Given the description of an element on the screen output the (x, y) to click on. 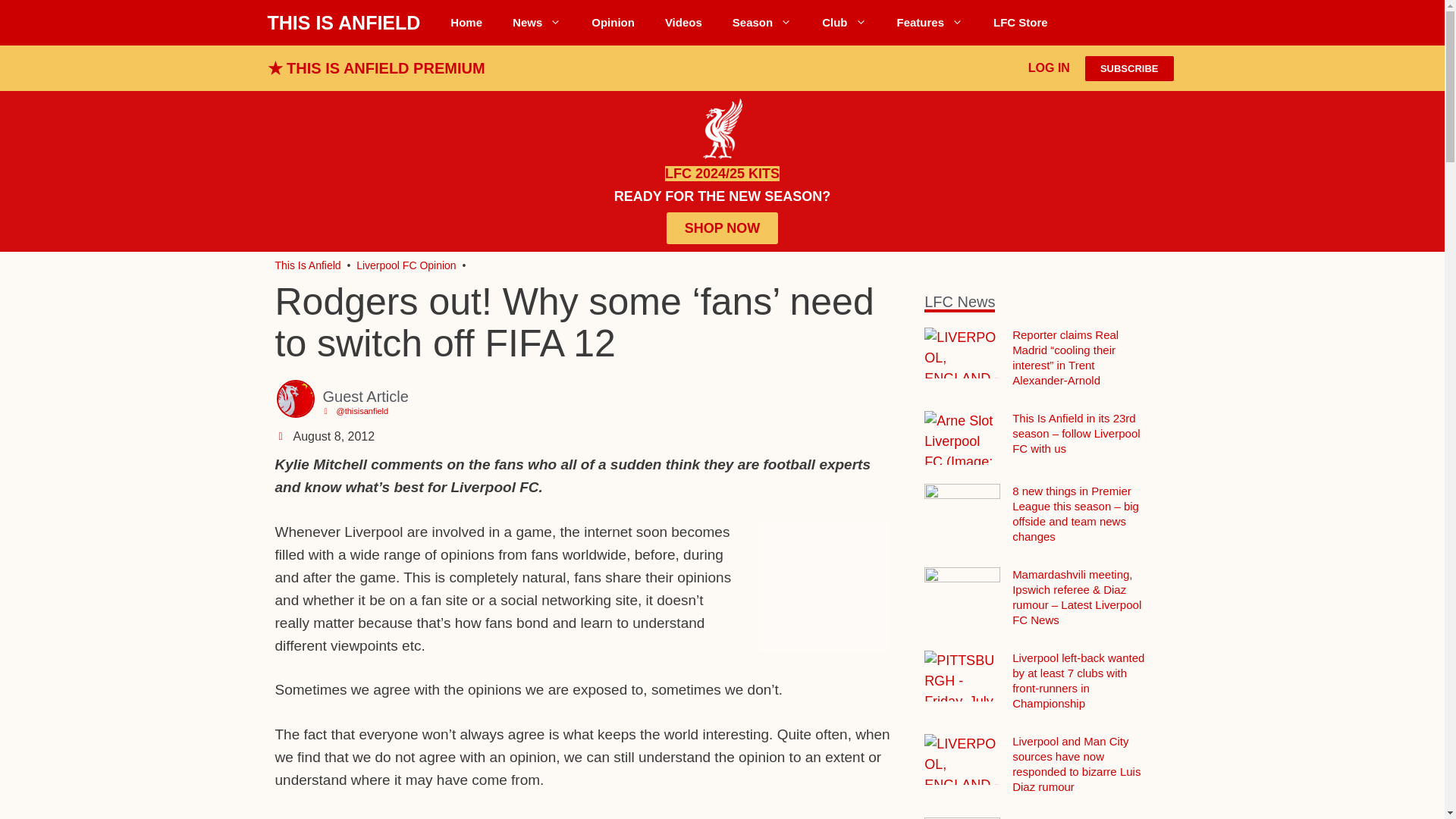
Liverpool FC Opinion (612, 22)
Liverpool FC (307, 265)
Liverpool FC Videos (683, 22)
Club (843, 22)
Season (761, 22)
Features (929, 22)
Liverpool FC Features (929, 22)
Videos (683, 22)
Go to the Liverpool FC Opinion category archives. (406, 265)
Home (466, 22)
